Given the description of an element on the screen output the (x, y) to click on. 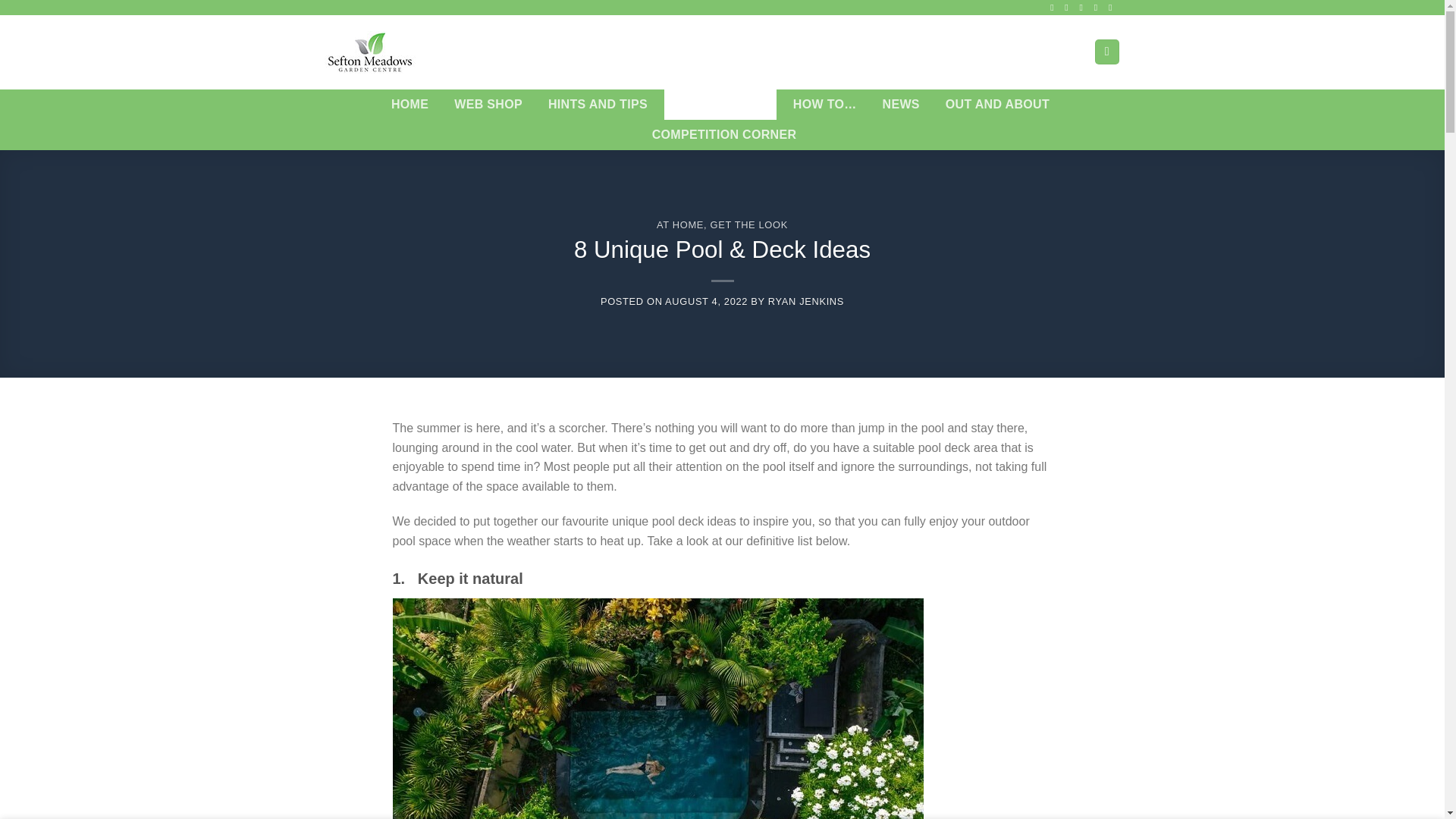
NEWS (900, 104)
WEB SHOP (488, 104)
HINTS AND TIPS (597, 104)
OUT AND ABOUT (997, 104)
HOME (409, 104)
GET THE LOOK (719, 104)
Sefton Meadows Blog - Just another WordPress site (400, 52)
RYAN JENKINS (806, 301)
GET THE LOOK (748, 224)
AT HOME (679, 224)
